Given the description of an element on the screen output the (x, y) to click on. 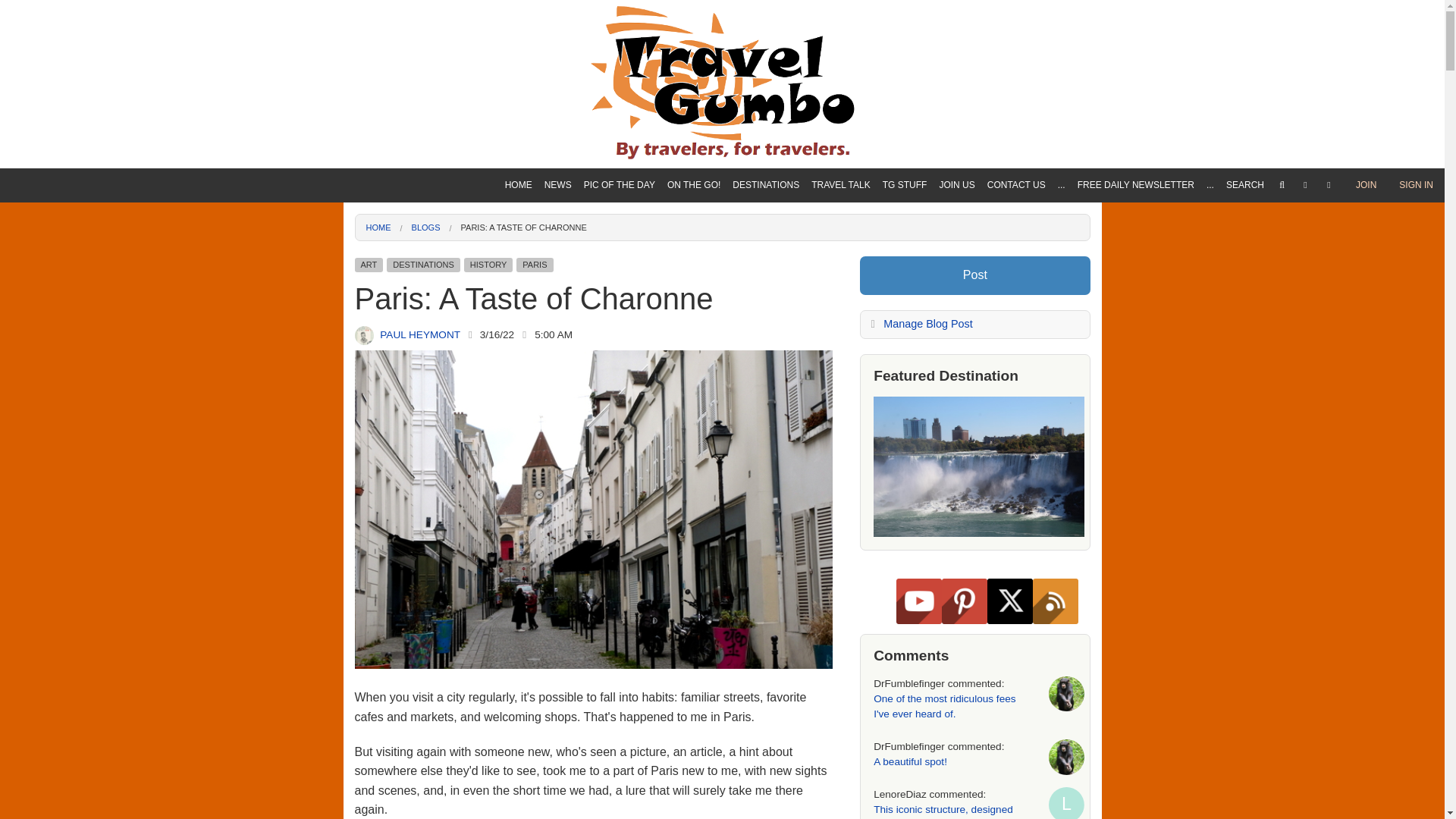
L (1066, 803)
CENTRAL AND SOUTH AMERICA (765, 348)
PIC OF THE DAY (619, 185)
ASIA (765, 242)
NEWS (558, 185)
AUSTRALIA AND OCEANIA (765, 268)
HOME (518, 185)
Paul Heymont (364, 334)
TRAVEL TALK (840, 185)
ANTARCTICA (765, 375)
EUROPE (765, 295)
DESTINATIONS (765, 185)
ON THE GO! (693, 185)
AFRICA (765, 215)
NORTH AMERICA AND THE CARIBBEAN (765, 322)
